Given the description of an element on the screen output the (x, y) to click on. 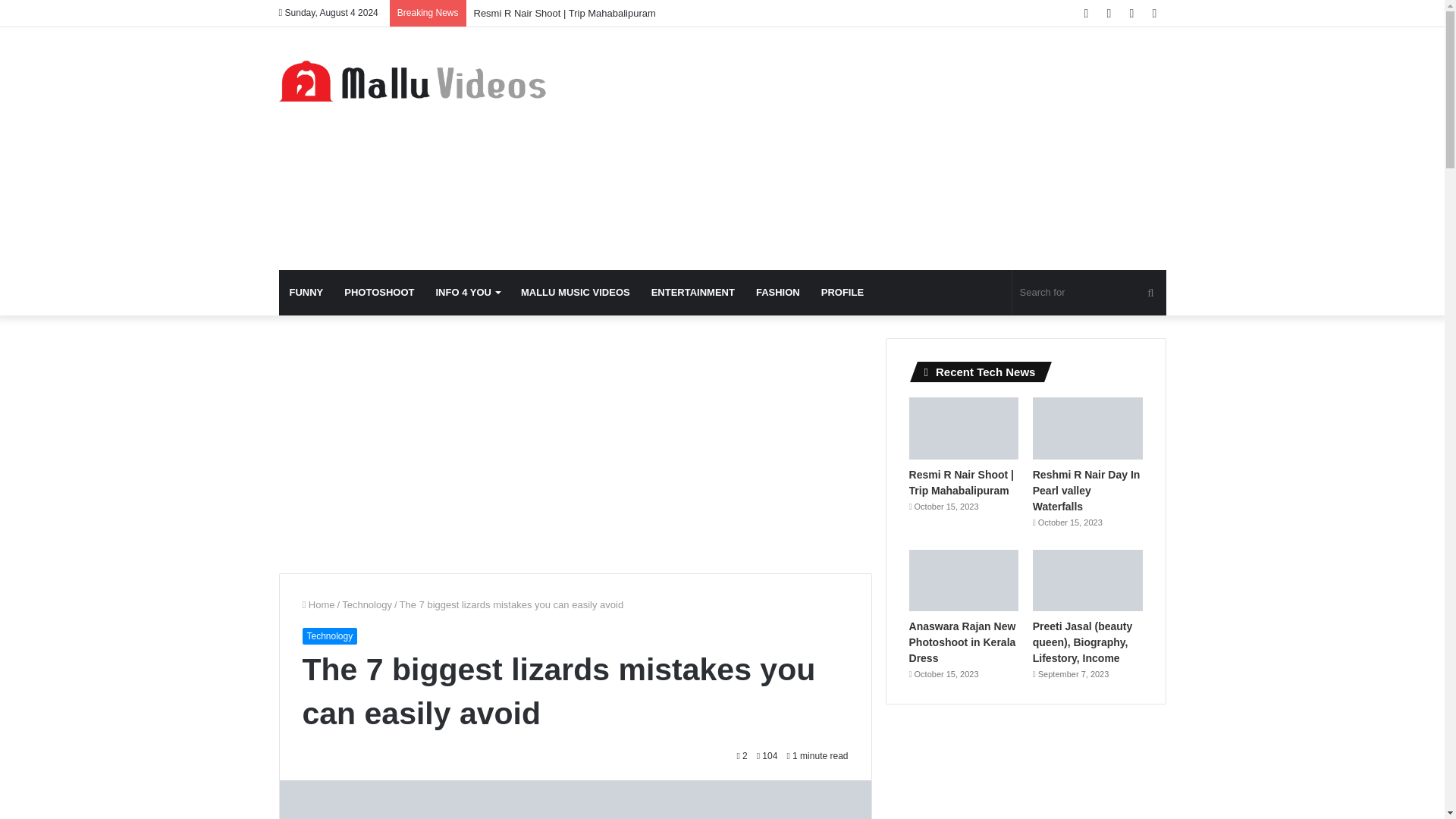
Home (317, 604)
FASHION (777, 292)
Advertisement (874, 148)
Mallu Videos actress (419, 80)
INFO 4 YOU (467, 292)
ENTERTAINMENT (692, 292)
FUNNY (306, 292)
Technology (328, 636)
MALLU MUSIC VIDEOS (575, 292)
Technology (366, 604)
PHOTOSHOOT (379, 292)
Advertisement (575, 444)
Search for (1088, 292)
PROFILE (842, 292)
